Given the description of an element on the screen output the (x, y) to click on. 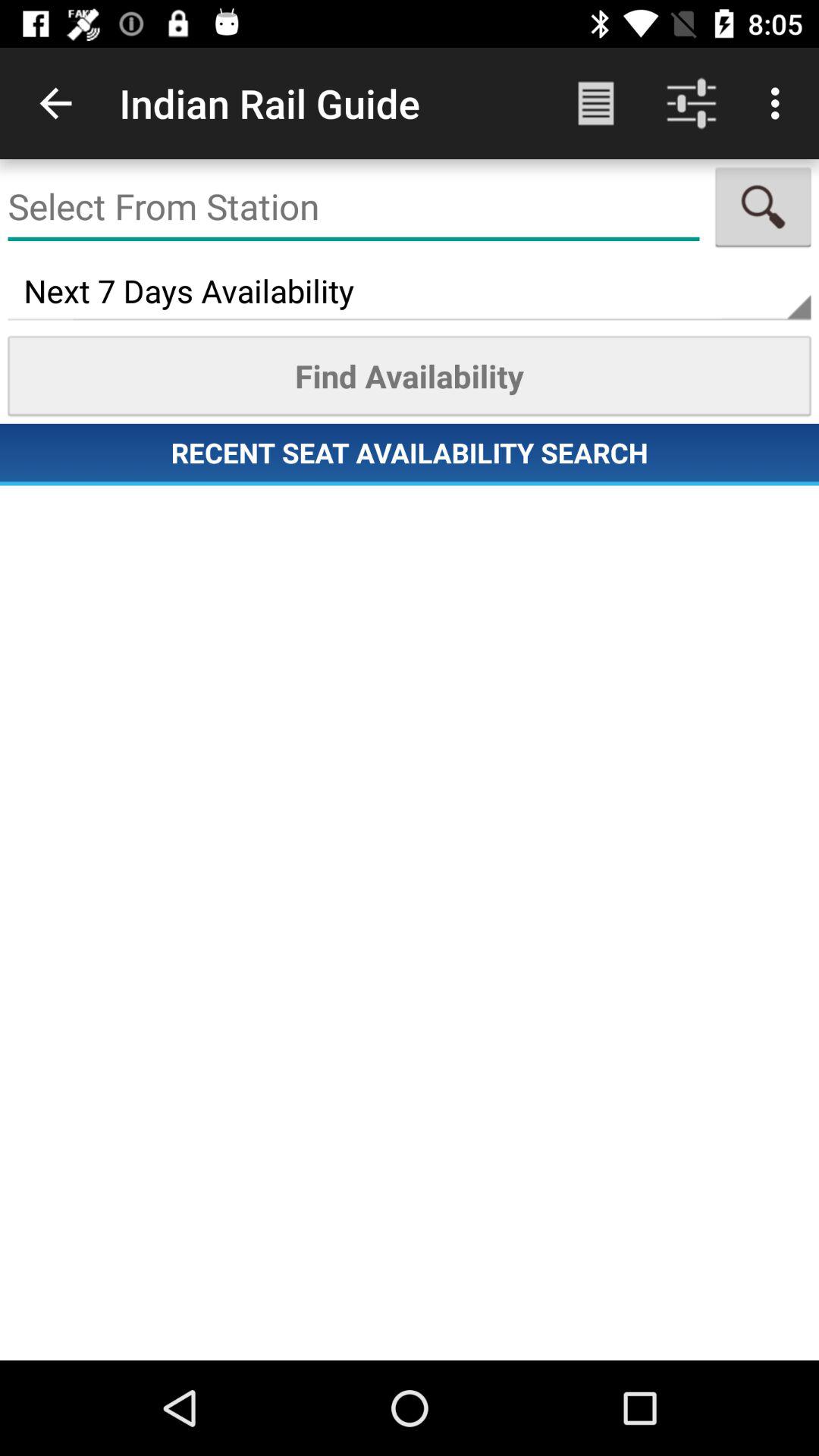
find (763, 206)
